Given the description of an element on the screen output the (x, y) to click on. 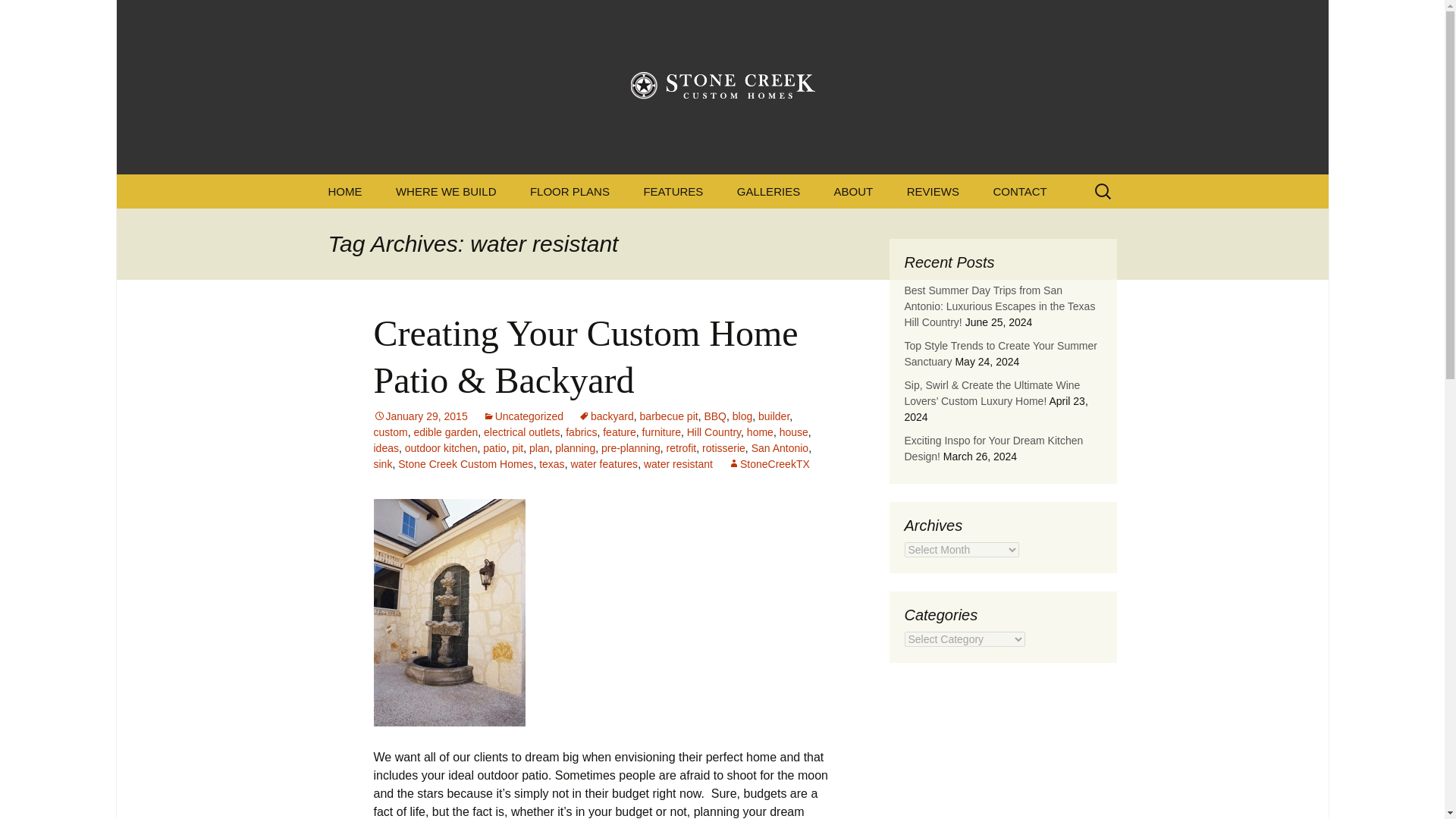
Search (18, 15)
Skip to content (353, 183)
FEATURES (672, 191)
Uncategorized (523, 416)
BBQ (714, 416)
patio (494, 448)
backyard (605, 416)
pre-planning (631, 448)
outdoor kitchen (440, 448)
REVIEWS (932, 191)
Search for: (1103, 191)
View all posts by StoneCreekTX (768, 463)
San Antonio (780, 448)
Hill Country (714, 431)
pit (517, 448)
